Given the description of an element on the screen output the (x, y) to click on. 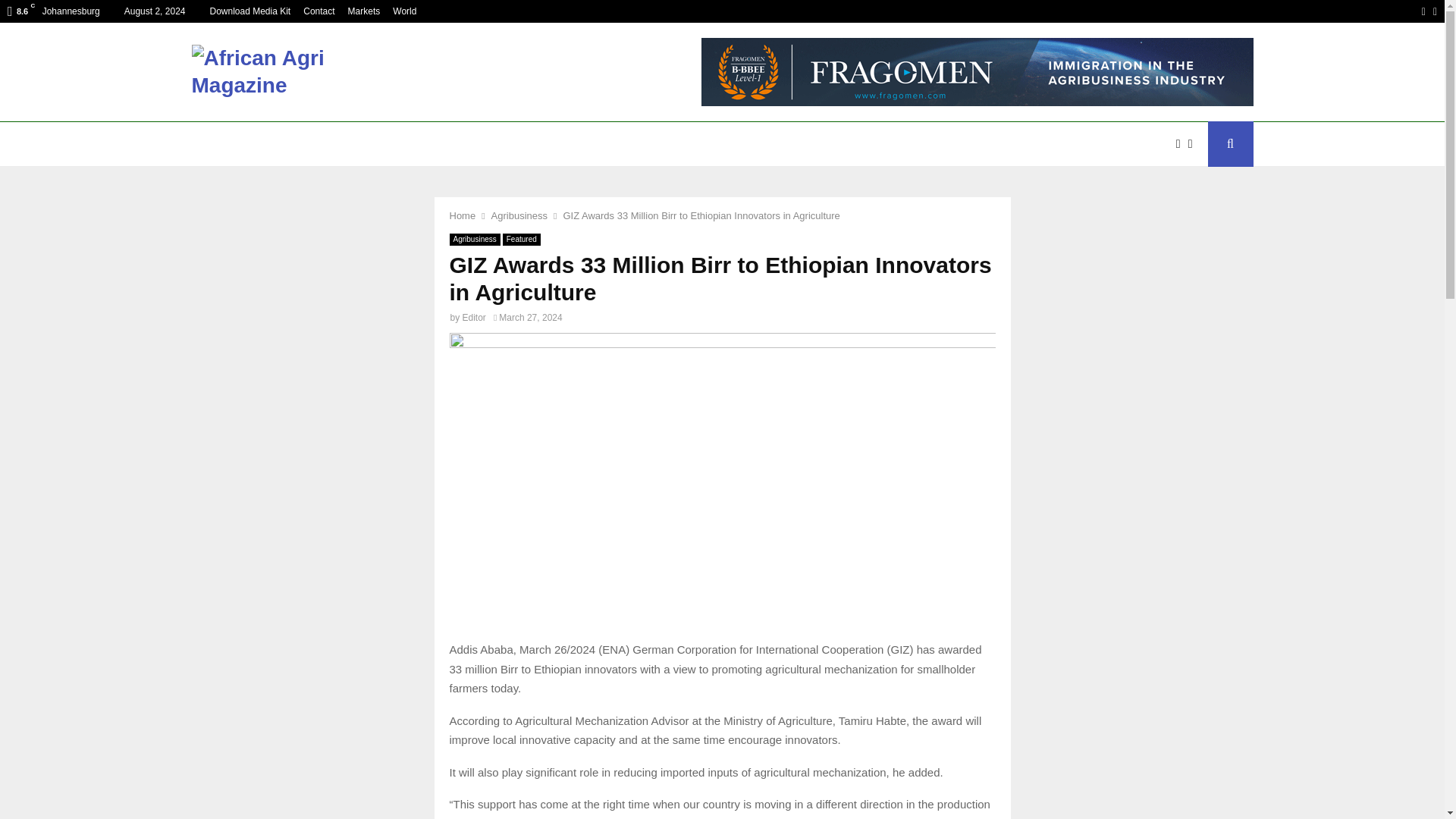
AGRIBUSINESS (304, 144)
World (404, 11)
POULTRY (668, 144)
MACHINERY AND EQUIPMENT (449, 144)
Contact (318, 11)
Agribusiness (473, 239)
HOME (220, 144)
Editor (474, 317)
Agribusiness (519, 215)
Featured (521, 239)
Download Media Kit (249, 11)
LIVESTOCK (750, 144)
FOOD PROCESSING (969, 144)
Home (462, 215)
